Given the description of an element on the screen output the (x, y) to click on. 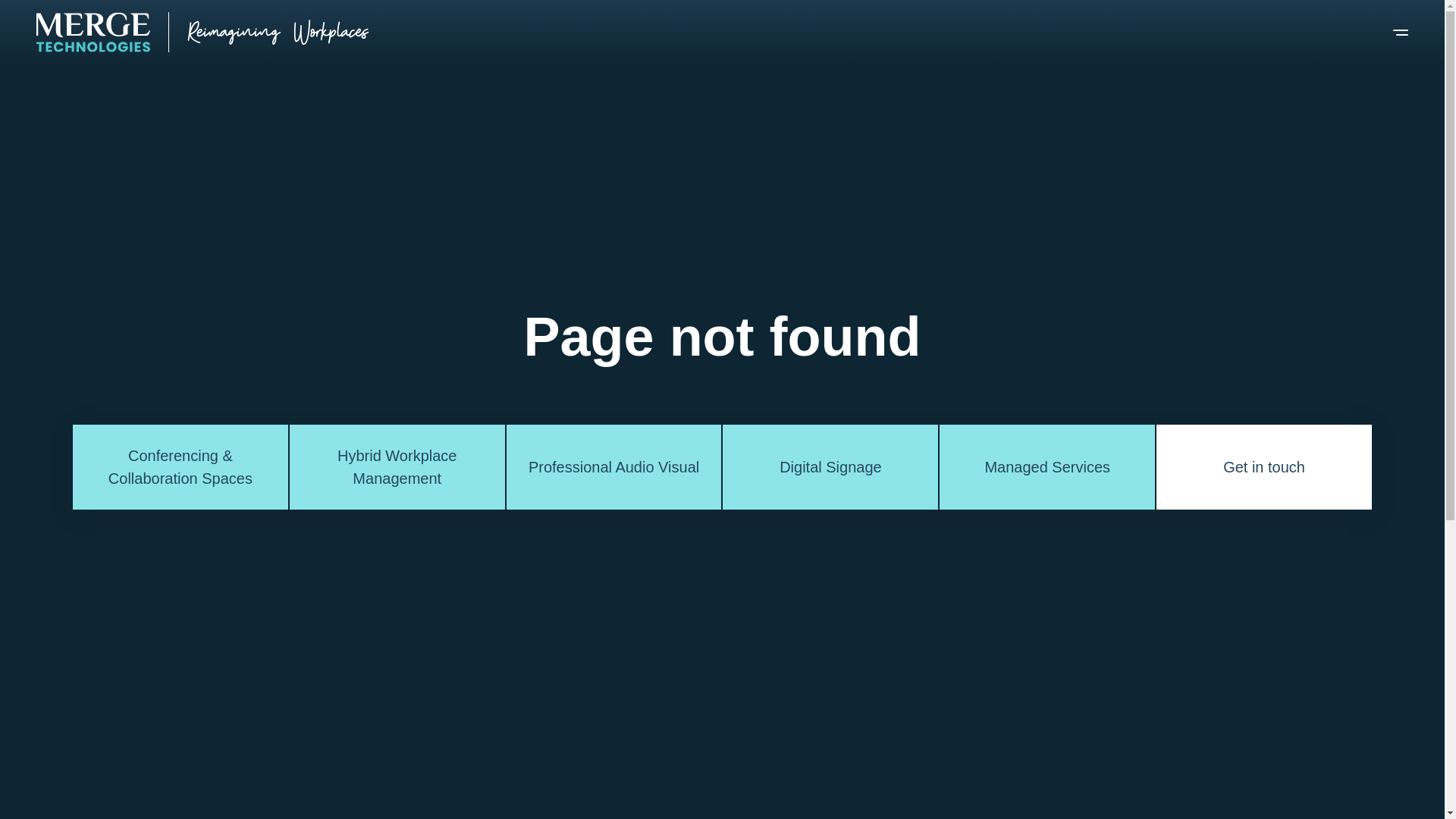
Conferencing & Collaboration Spaces Element type: text (180, 466)
Digital Signage Element type: text (830, 466)
Professional Audio Visual Element type: text (613, 466)
Get in touch Element type: text (1263, 466)
Hybrid Workplace Management Element type: text (397, 466)
Managed Services Element type: text (1046, 466)
